Given the description of an element on the screen output the (x, y) to click on. 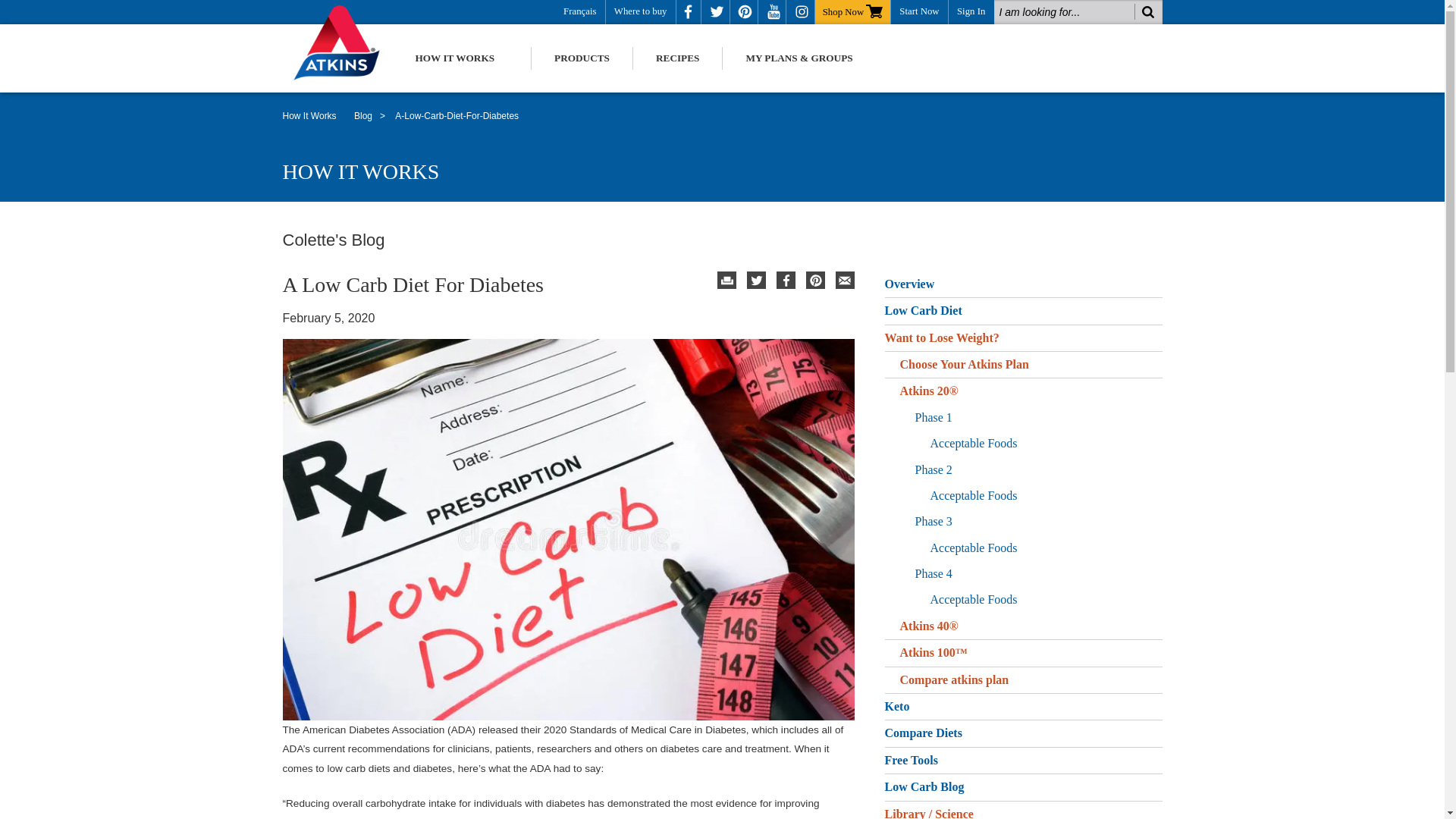
Print (726, 280)
RECIPES (677, 57)
PRODUCTS (581, 57)
Pinterest (745, 12)
Twitter (716, 12)
Facebook (785, 280)
Where to buy (640, 11)
Atkins (344, 42)
Facebook (688, 12)
Start Now (919, 11)
Instagram (801, 12)
Twitter (755, 280)
HOW IT WORKS (454, 57)
YouTube (774, 12)
Shop Now (852, 10)
